Given the description of an element on the screen output the (x, y) to click on. 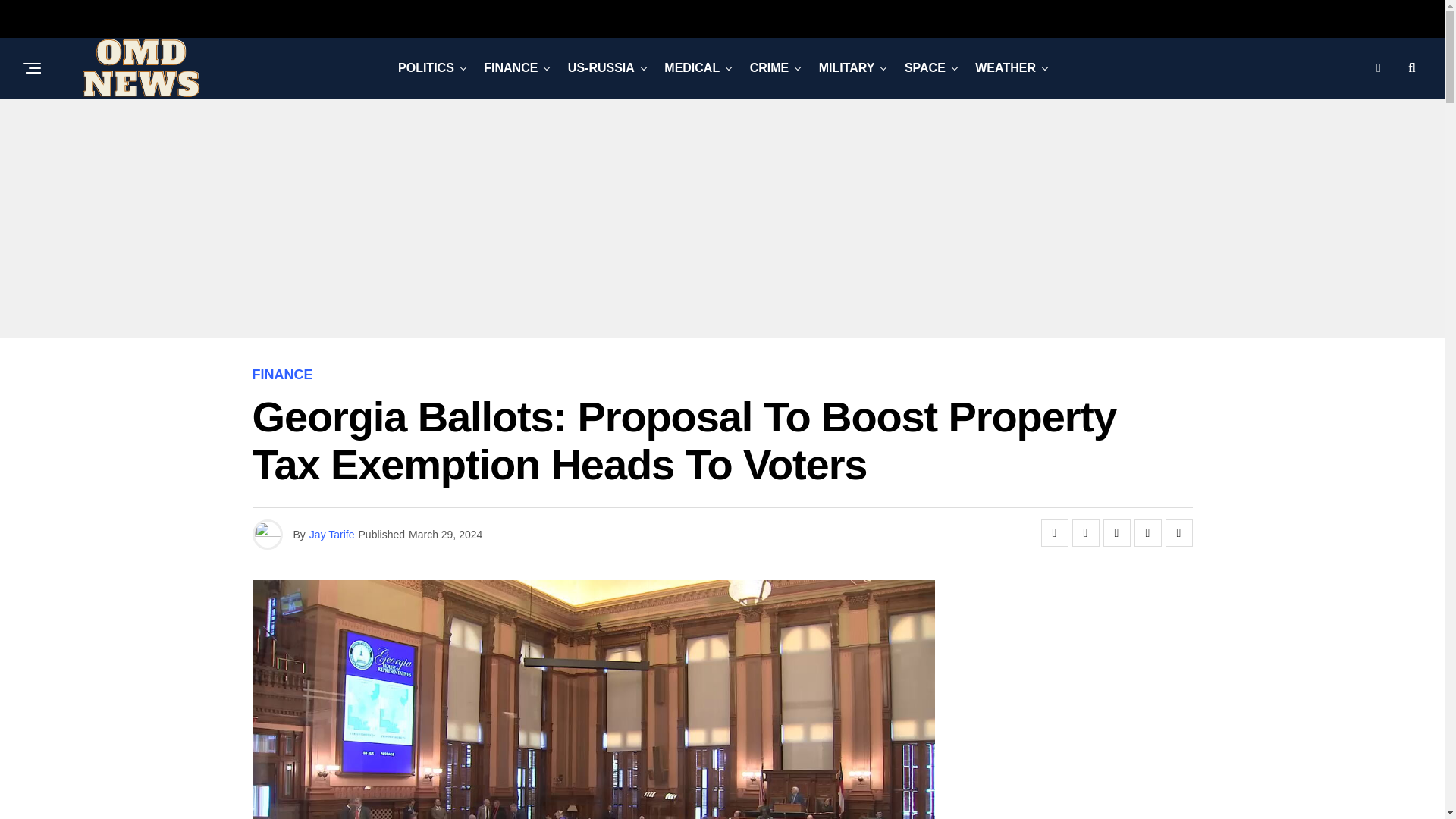
MILITARY (846, 67)
MEDICAL (691, 67)
US-RUSSIA (601, 67)
POLITICS (425, 67)
Posts by Jay Tarife (331, 534)
Tweet This Post (1085, 533)
Share on Facebook (1054, 533)
CRIME (769, 67)
FINANCE (510, 67)
